Given the description of an element on the screen output the (x, y) to click on. 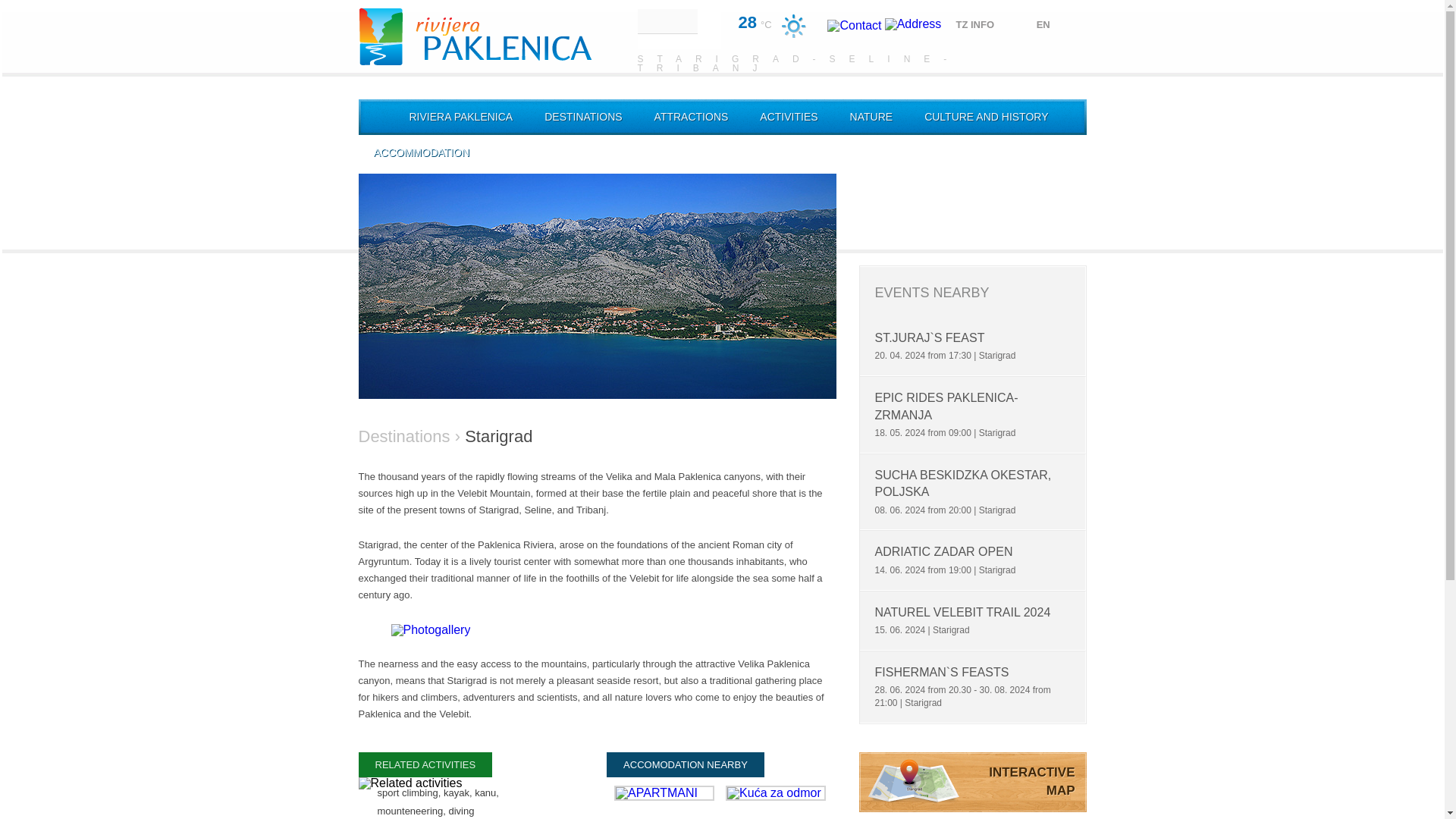
EN (1050, 24)
Contact (854, 24)
DESTINATIONS (583, 117)
Clear (793, 25)
CULTURE AND HISTORY (985, 117)
RIVIERA PAKLENICA (461, 117)
TZ INFO (982, 24)
Facebook (1019, 230)
NATURE (871, 117)
Directory (912, 24)
